Given the description of an element on the screen output the (x, y) to click on. 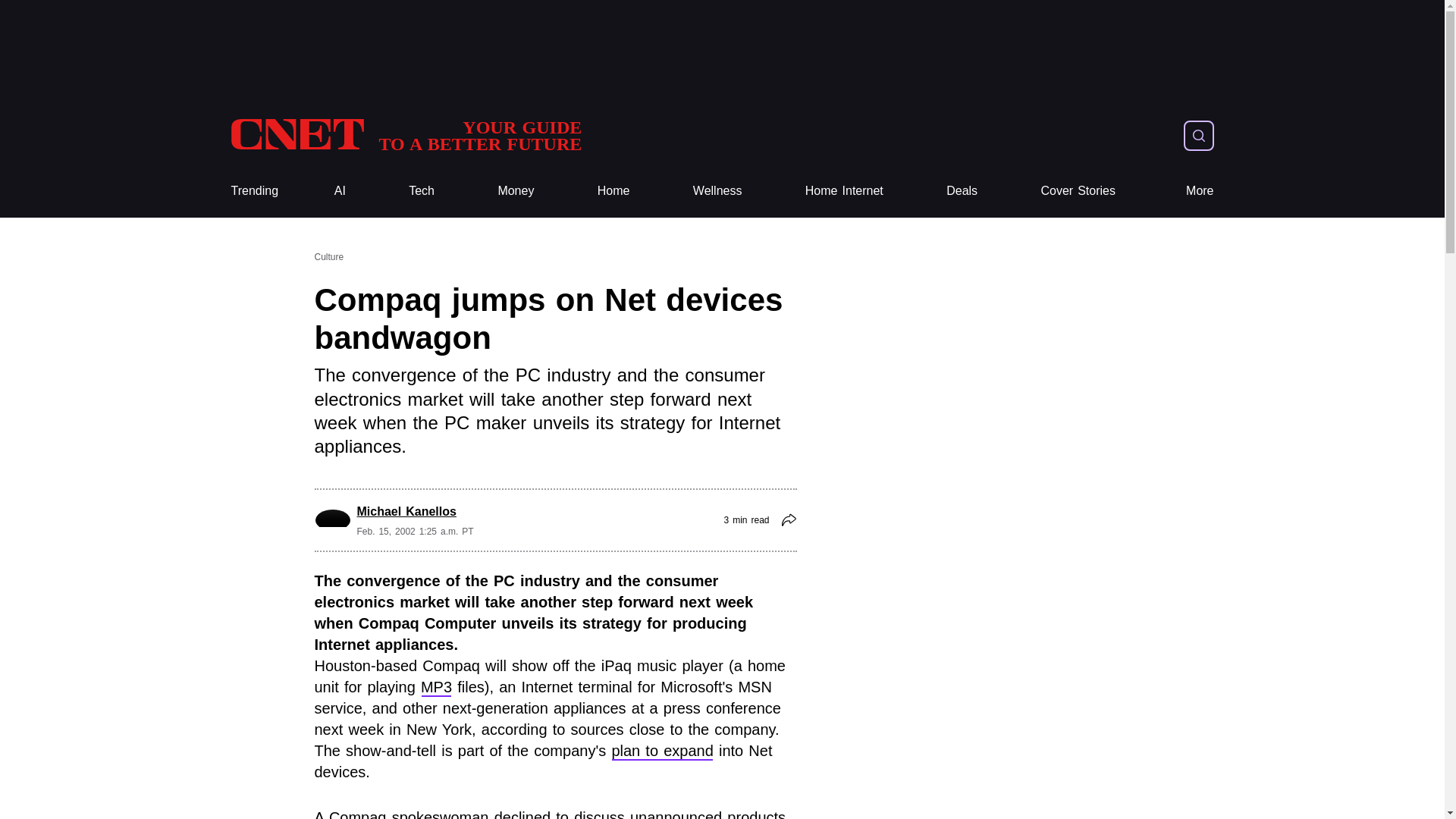
Tech (421, 190)
Home (613, 190)
Tech (421, 190)
Money (515, 190)
Trending (254, 190)
Home Internet (844, 190)
Trending (254, 190)
Money (515, 190)
Wellness (717, 190)
Wellness (717, 190)
